Given the description of an element on the screen output the (x, y) to click on. 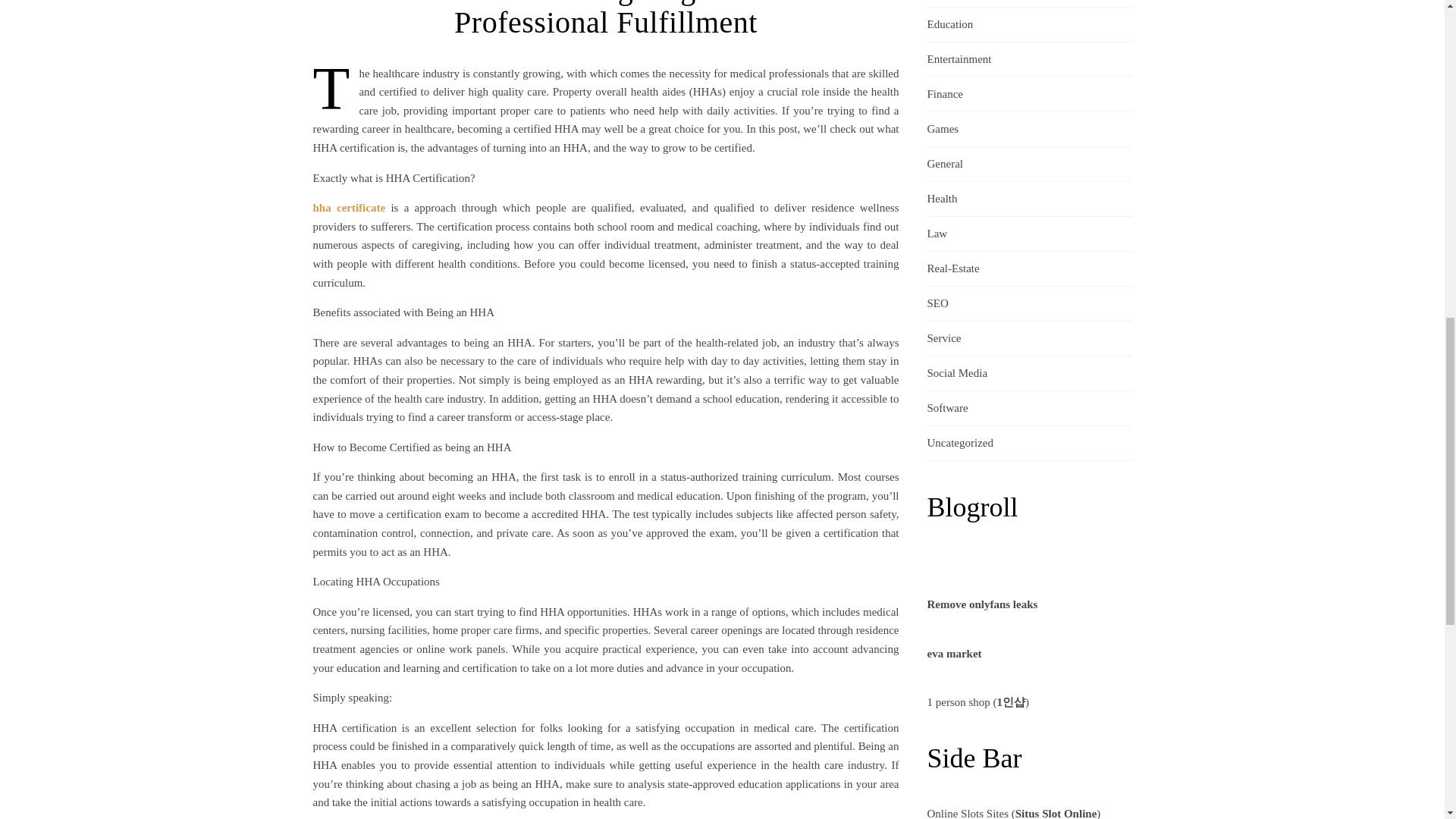
Uncategorized (959, 442)
Business (946, 3)
Finance (944, 93)
Games (942, 129)
General (944, 163)
Software (947, 408)
hha certificate (349, 207)
Education (949, 24)
Entertainment (958, 59)
Real-Estate (952, 268)
Social Media (956, 373)
Remove onlyfans leaks (981, 604)
Service (943, 338)
